Given the description of an element on the screen output the (x, y) to click on. 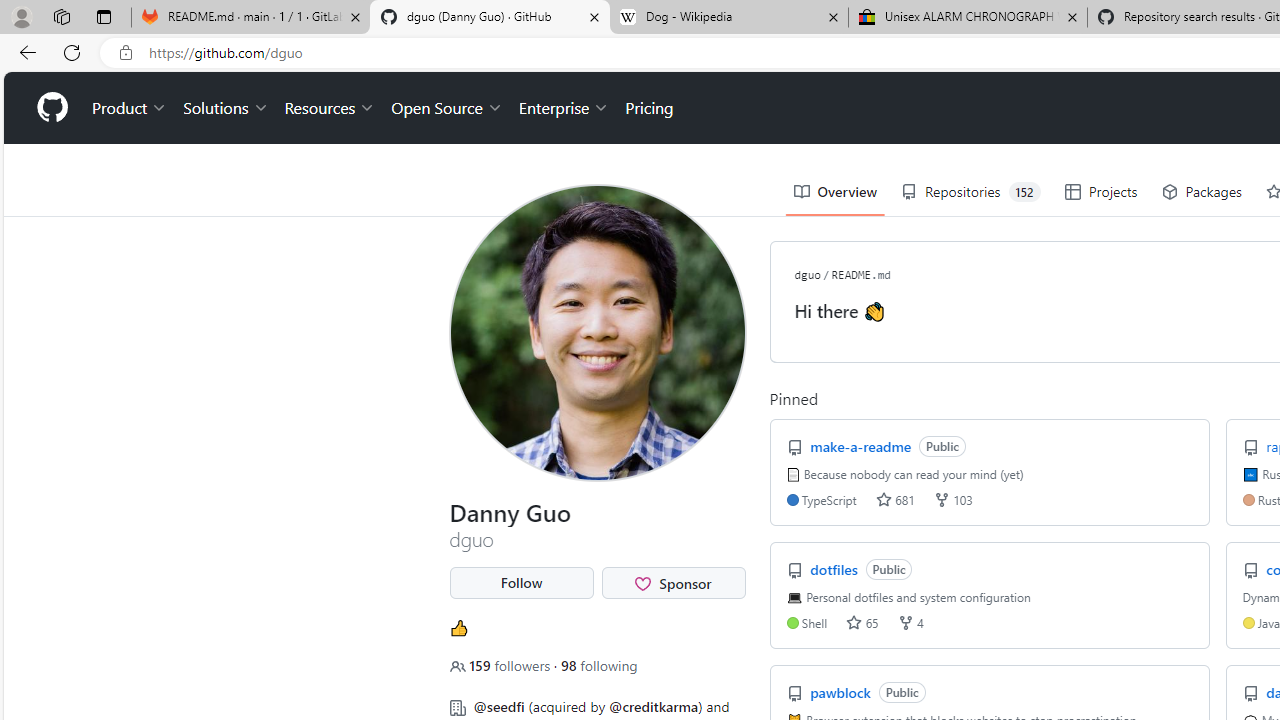
make-a-readme (863, 445)
Pricing (649, 107)
@dguo (465, 95)
98 following (598, 665)
forks (905, 622)
forks 103 (952, 499)
Pricing (649, 107)
159 followers  (502, 665)
pawblock (842, 691)
stars 681 (895, 499)
